Given the description of an element on the screen output the (x, y) to click on. 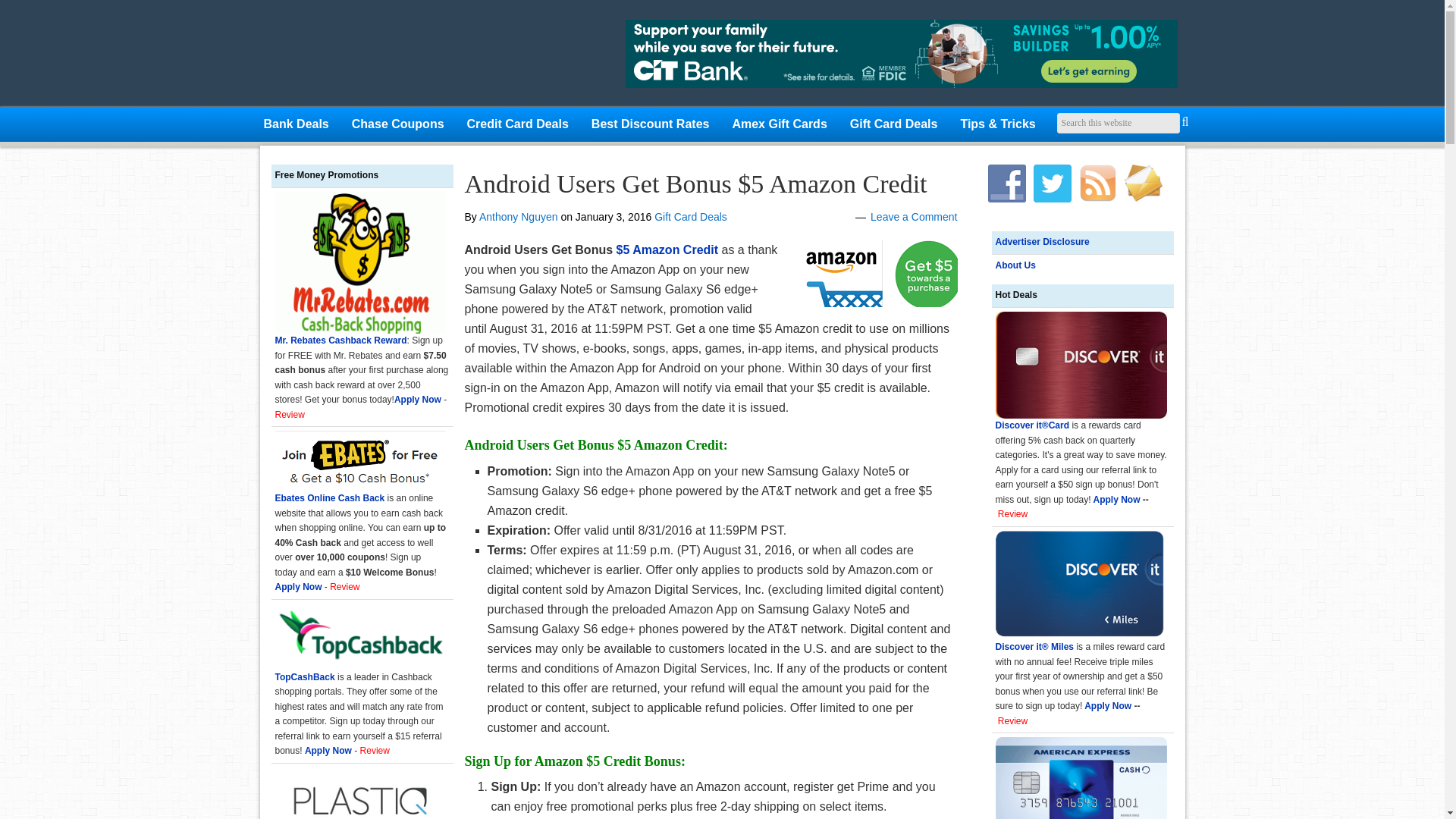
About Us (1014, 264)
Gift Cards No Fee (411, 57)
Follow Us on Twitter (1051, 183)
Review (1012, 720)
Apply Now (1107, 706)
Apply Now (1116, 499)
Review (1012, 513)
Amex Gift Cards (779, 124)
Advertiser Disclosure (1041, 241)
Anthony Nguyen (518, 216)
Best Discount Rates (649, 124)
Follow Us on Facebook (1006, 183)
Follow Us on RSS (1097, 183)
Credit Card Deals (517, 124)
Gift Card Deals (689, 216)
